Given the description of an element on the screen output the (x, y) to click on. 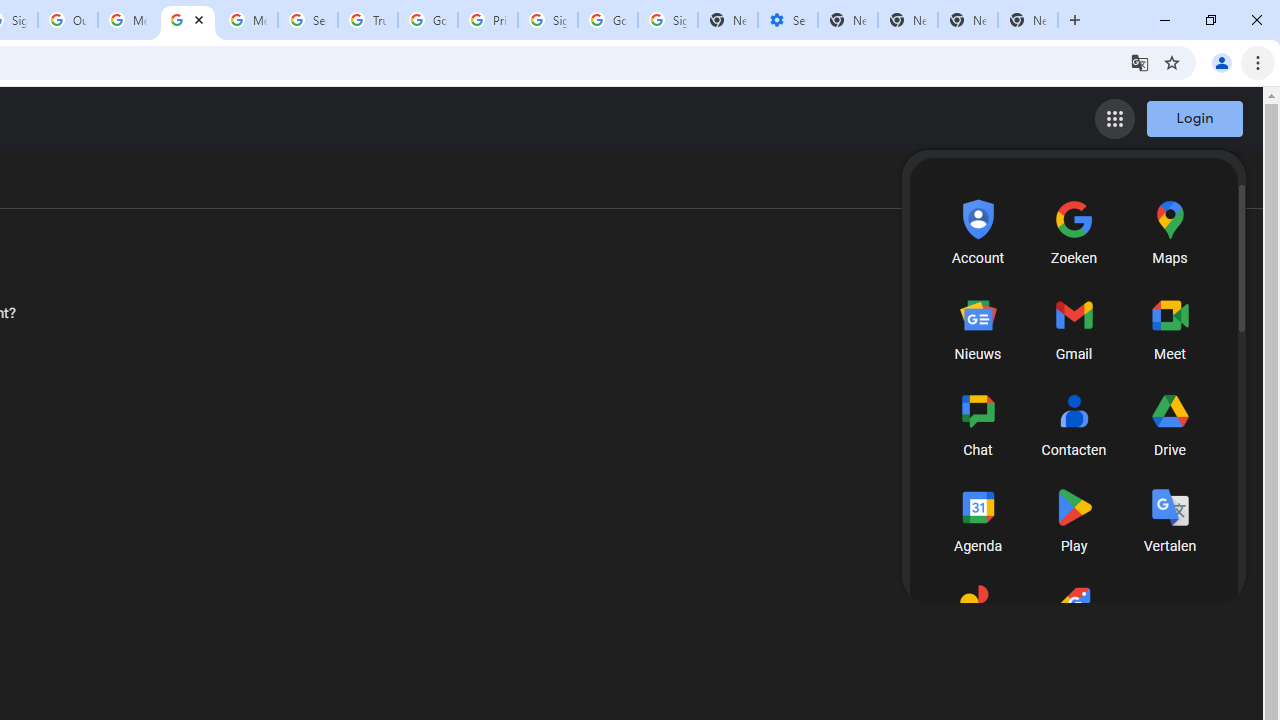
Trusted Information and Content - Google Safety Center (367, 20)
Google Cybersecurity Innovations - Google Safety Center (607, 20)
Translate this page (1139, 62)
